Given the description of an element on the screen output the (x, y) to click on. 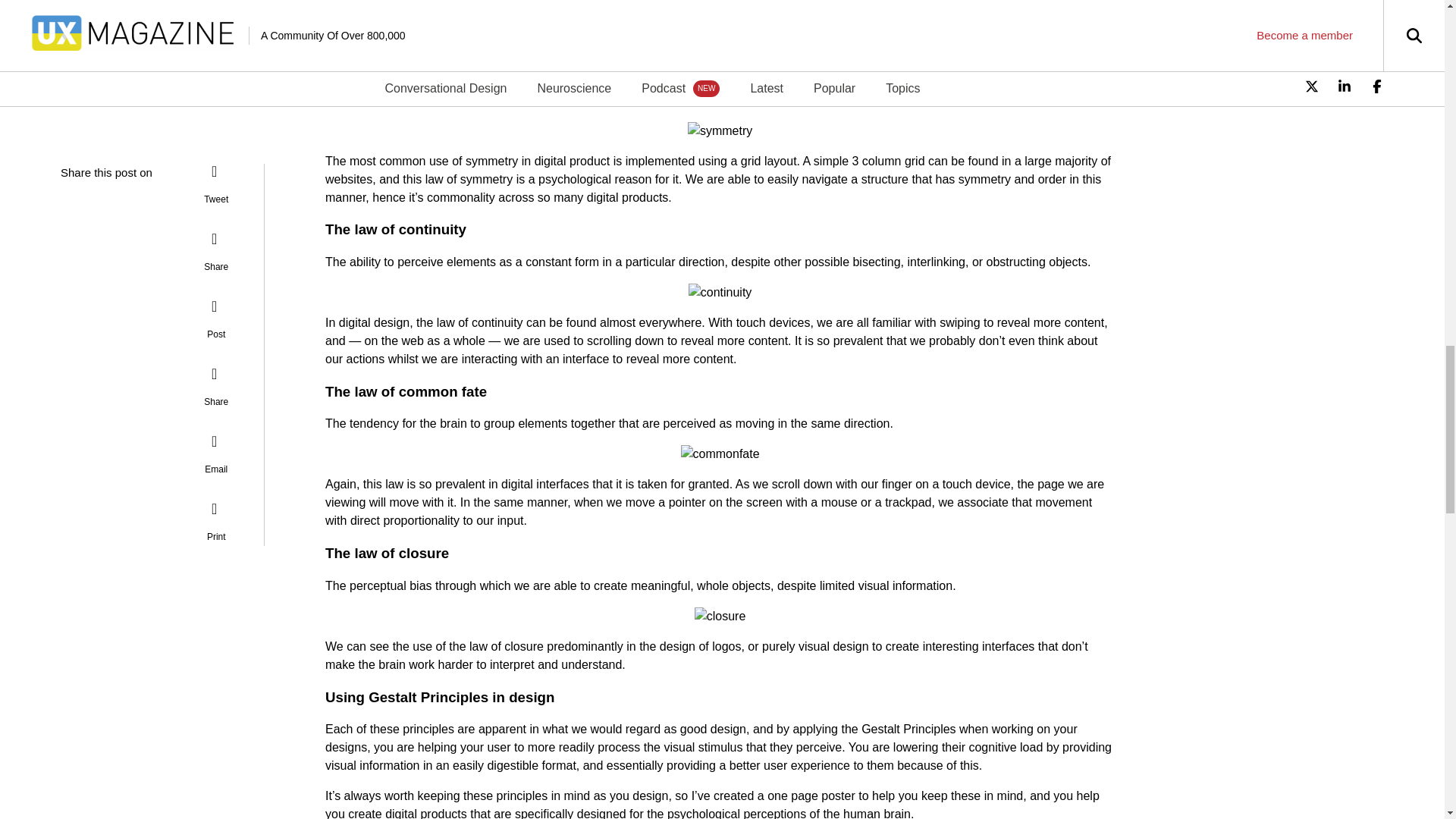
symmetry (719, 131)
continuity (720, 292)
closure (719, 616)
commonfate (720, 454)
